Given the description of an element on the screen output the (x, y) to click on. 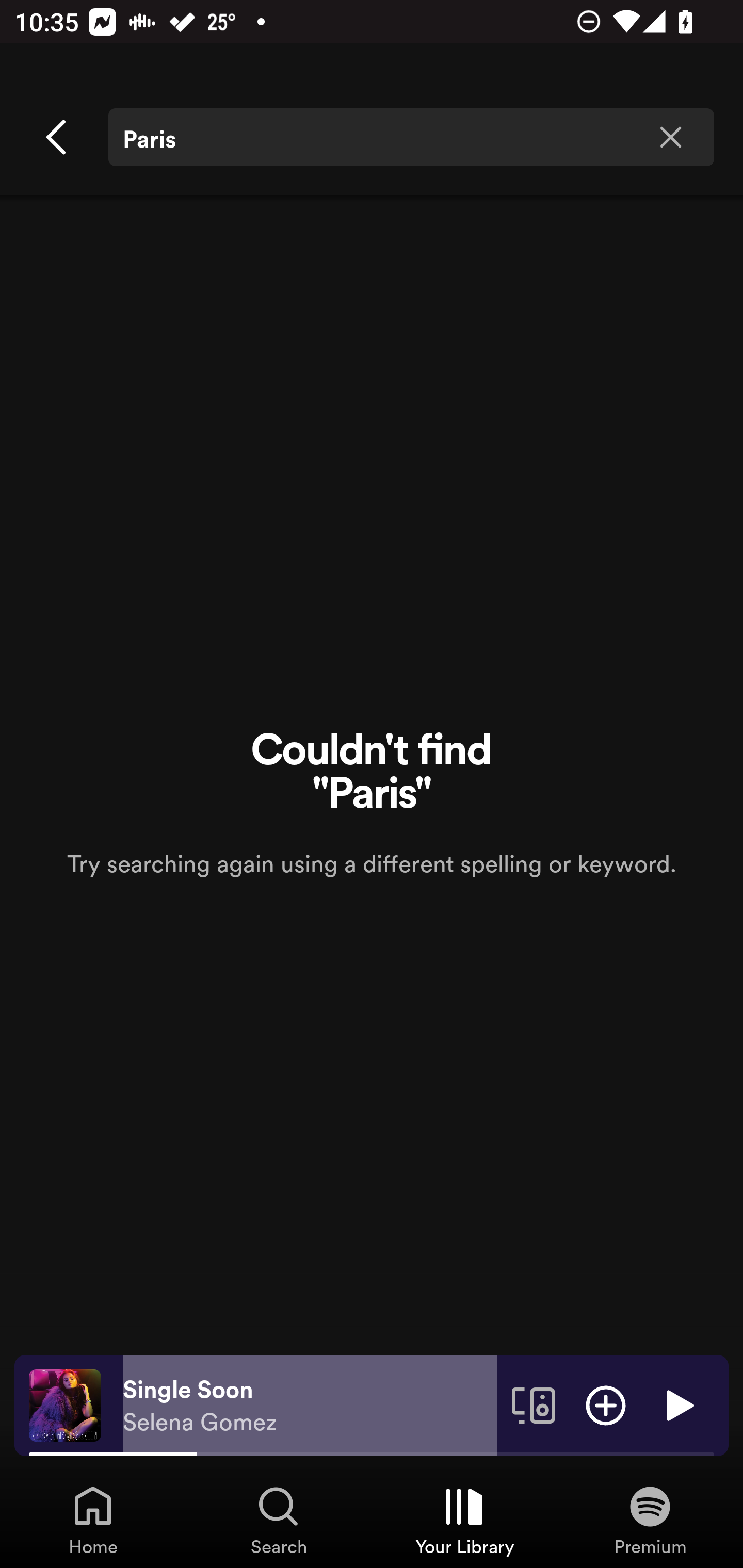
Cancel (57, 137)
Paris (411, 137)
Clear (670, 137)
Single Soon Selena Gomez (309, 1405)
The cover art of the currently playing track (64, 1404)
Connect to a device. Opens the devices menu (533, 1404)
Add item (605, 1404)
Play (677, 1404)
Home, Tab 1 of 4 Home Home (92, 1519)
Search, Tab 2 of 4 Search Search (278, 1519)
Your Library, Tab 3 of 4 Your Library Your Library (464, 1519)
Premium, Tab 4 of 4 Premium Premium (650, 1519)
